Given the description of an element on the screen output the (x, y) to click on. 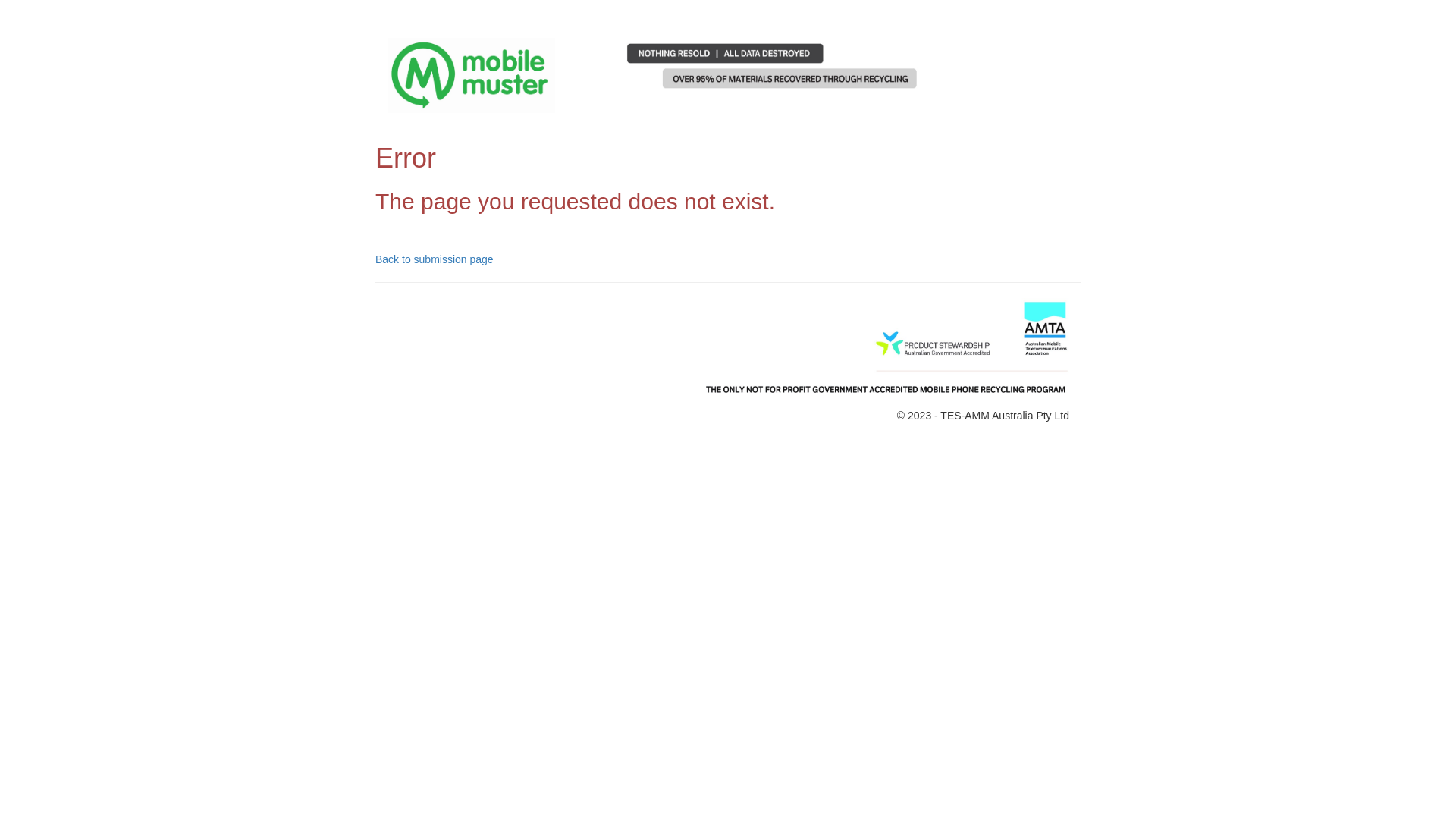
Back to submission page Element type: text (434, 259)
